Given the description of an element on the screen output the (x, y) to click on. 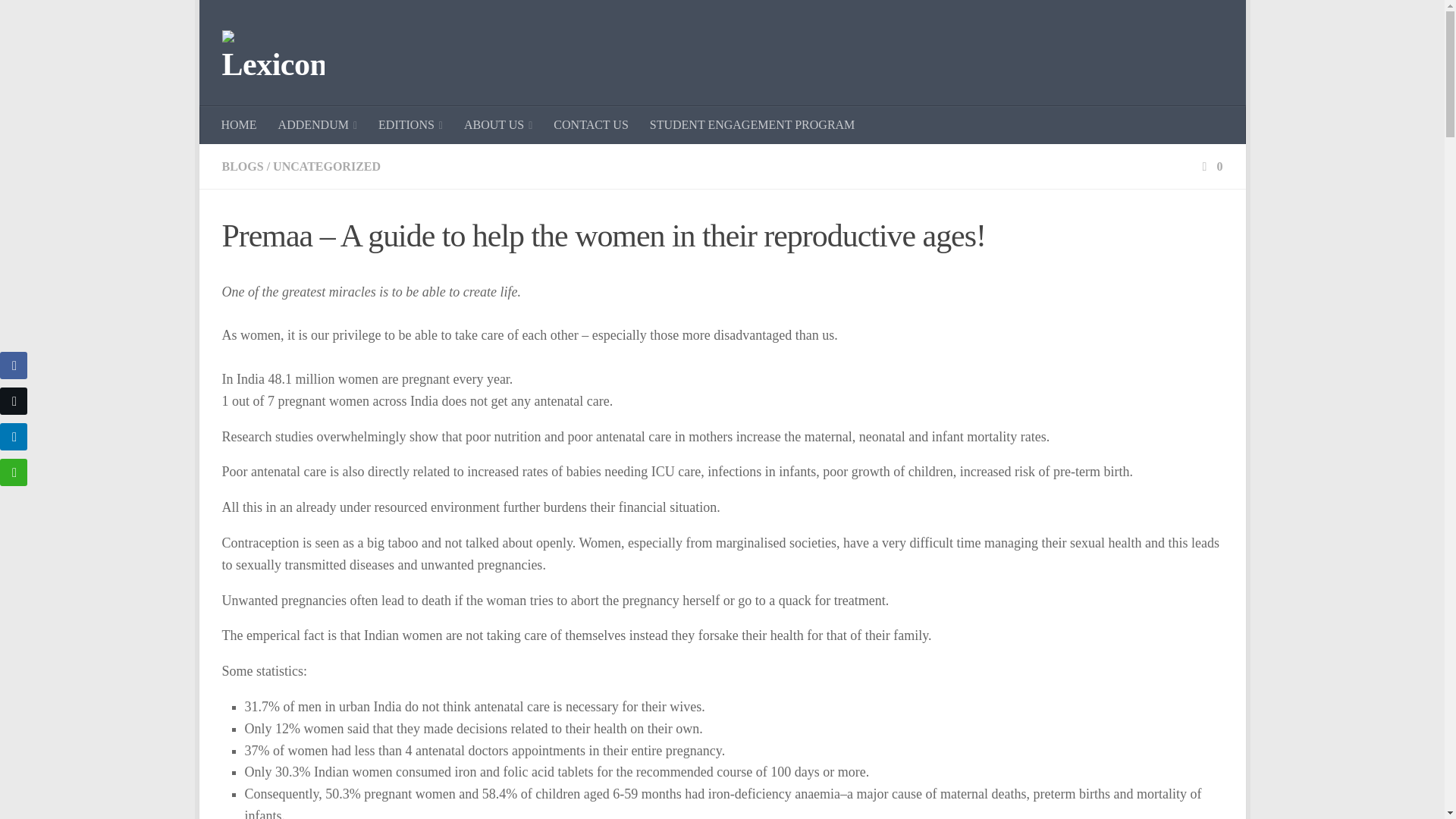
ADDENDUM (317, 125)
BLOGS (242, 165)
Skip to content (258, 20)
HOME (239, 125)
ABOUT US (497, 125)
CONTACT US (591, 125)
EDITIONS (410, 125)
UNCATEGORIZED (326, 165)
STUDENT ENGAGEMENT PROGRAM (752, 125)
0 (1210, 165)
